Given the description of an element on the screen output the (x, y) to click on. 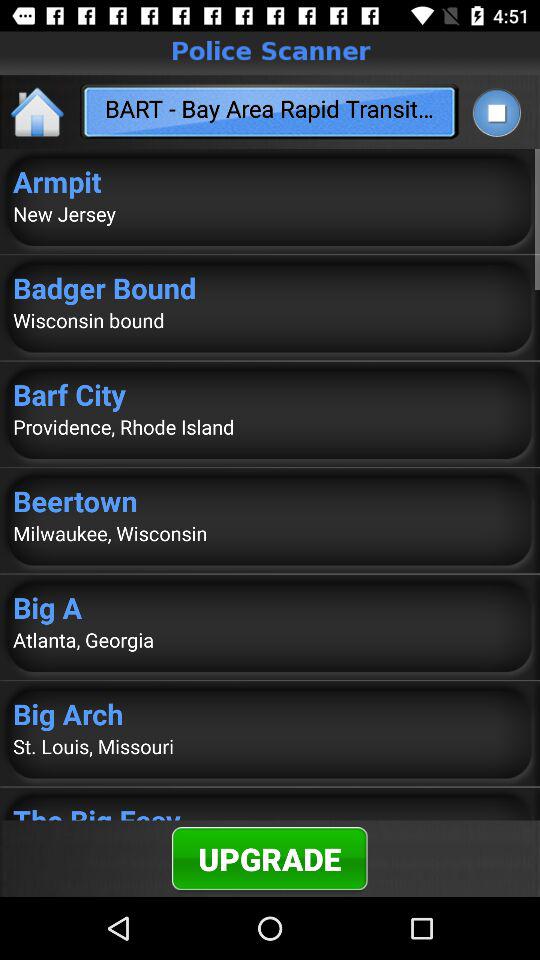
click the item below the new jersey (269, 287)
